Given the description of an element on the screen output the (x, y) to click on. 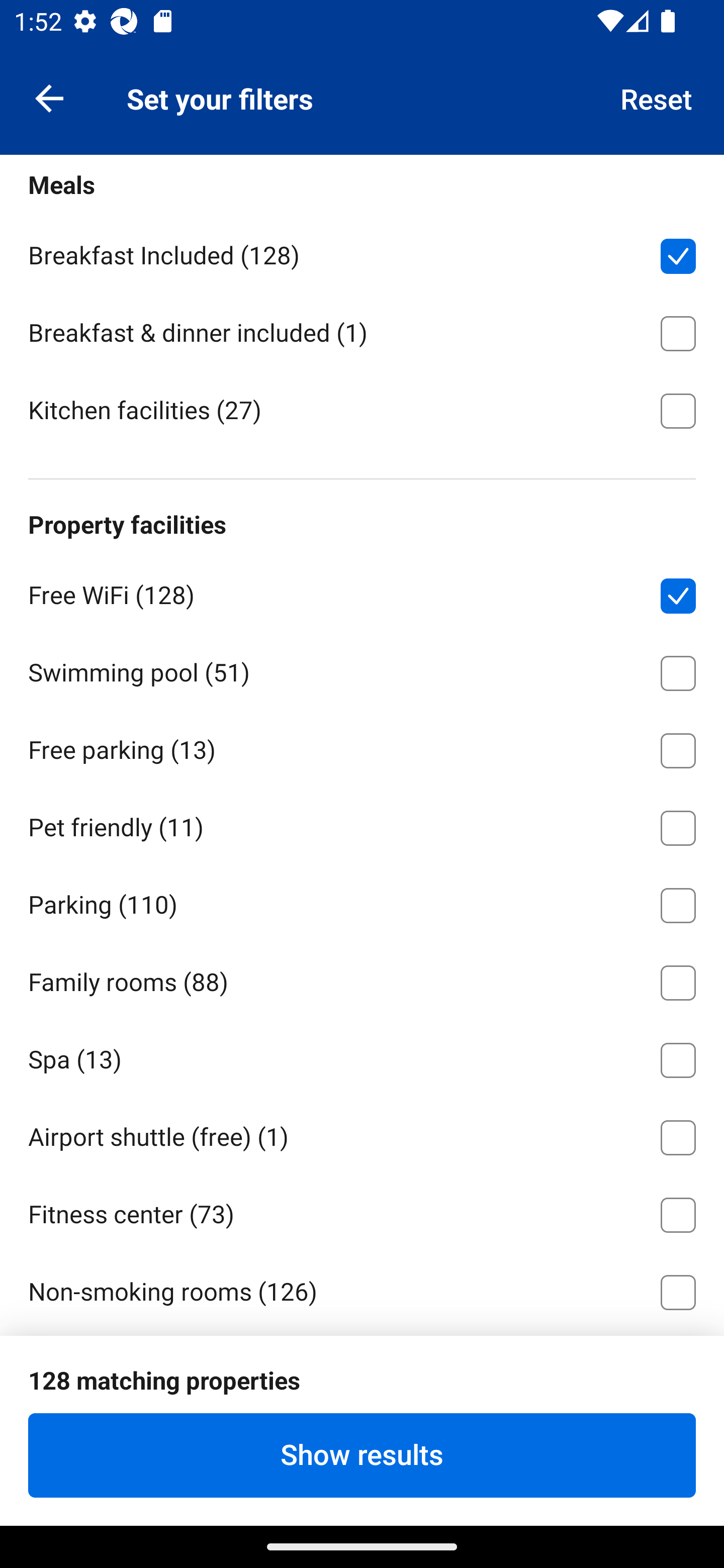
Navigate up (49, 97)
Reset (656, 97)
Breakfast Included ⁦(128) (361, 252)
Breakfast & dinner included ⁦(1) (361, 329)
Kitchen facilities ⁦(27) (361, 409)
Free WiFi ⁦(128) (361, 592)
Swimming pool ⁦(51) (361, 669)
Free parking ⁦(13) (361, 746)
Pet friendly ⁦(11) (361, 824)
Parking ⁦(110) (361, 901)
Family rooms ⁦(88) (361, 978)
Spa ⁦(13) (361, 1056)
Airport shuttle (free) ⁦(1) (361, 1134)
Fitness center ⁦(73) (361, 1210)
Non-smoking rooms ⁦(126) (361, 1288)
Show results (361, 1454)
